Given the description of an element on the screen output the (x, y) to click on. 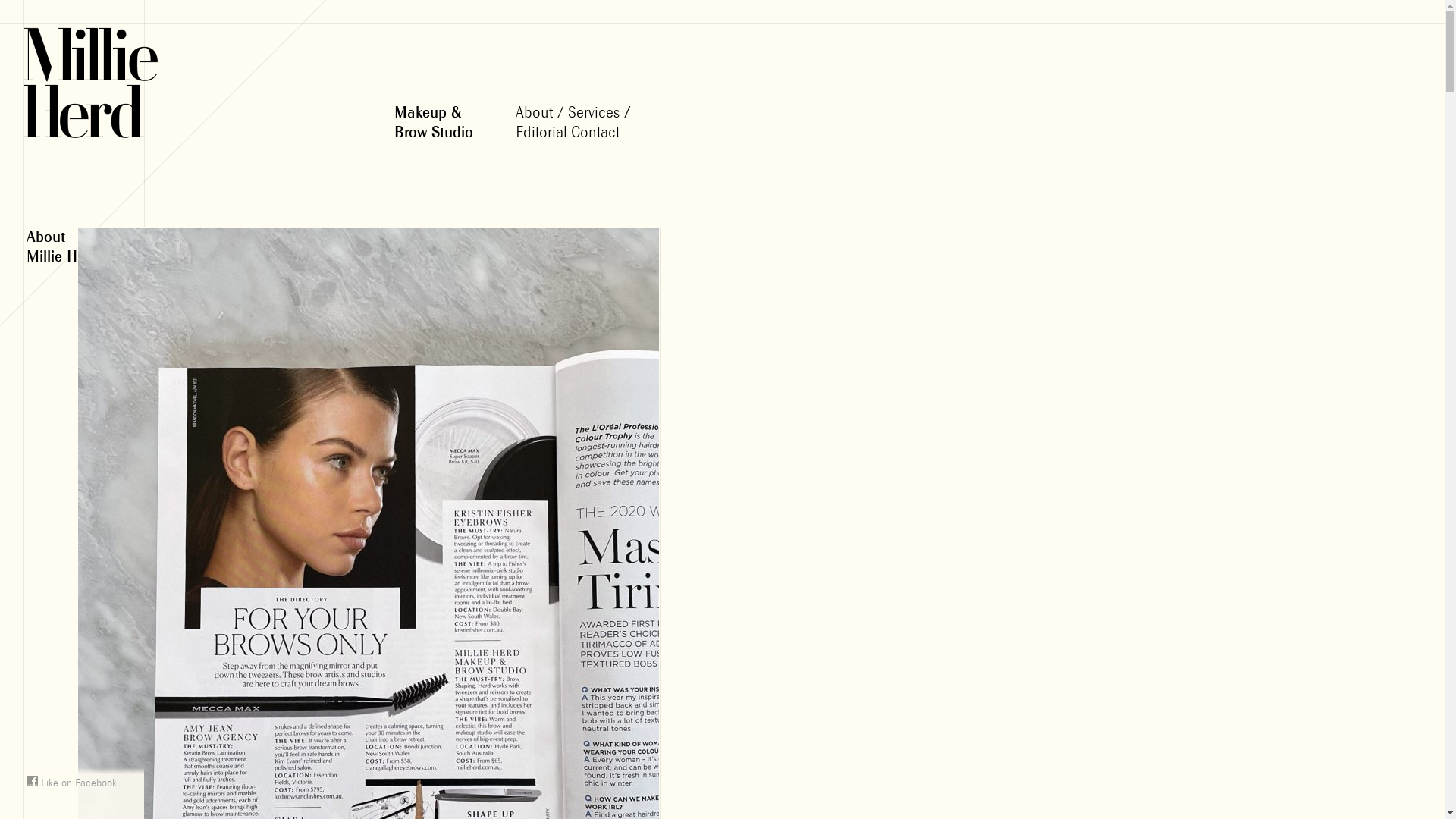
Like on Facebook Element type: text (71, 783)
brows Element type: text (259, 257)
Contact Element type: text (595, 132)
Millie Herd Element type: text (94, 75)
makeup for brides, events & editorial.  Element type: text (296, 267)
Services Element type: text (593, 112)
Editorial Element type: text (541, 132)
About Element type: text (533, 112)
